Given the description of an element on the screen output the (x, y) to click on. 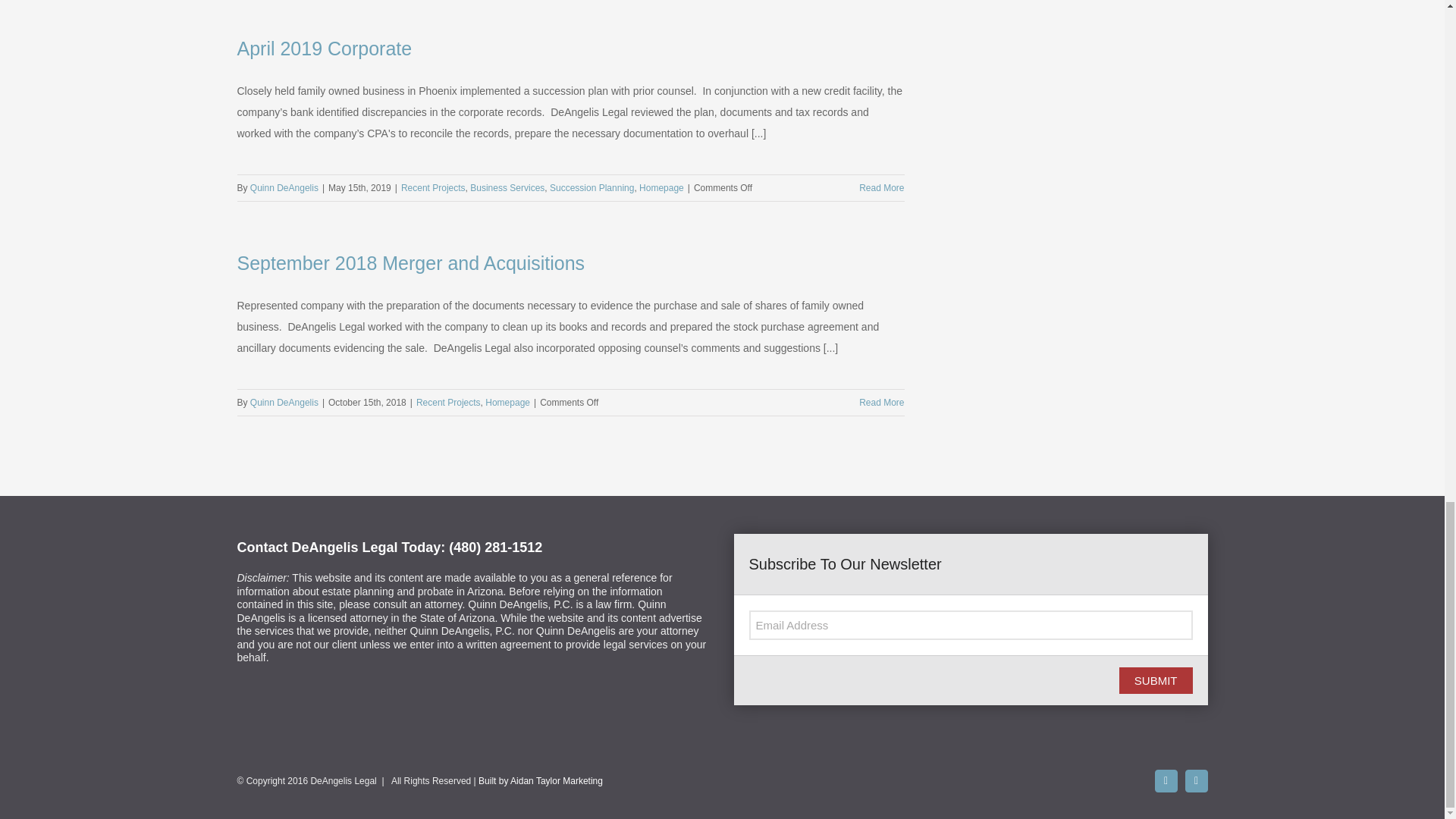
Posts by Quinn DeAngelis (284, 187)
Facebook (1165, 780)
LinkedIn (1196, 780)
Posts by Quinn DeAngelis (284, 402)
